Given the description of an element on the screen output the (x, y) to click on. 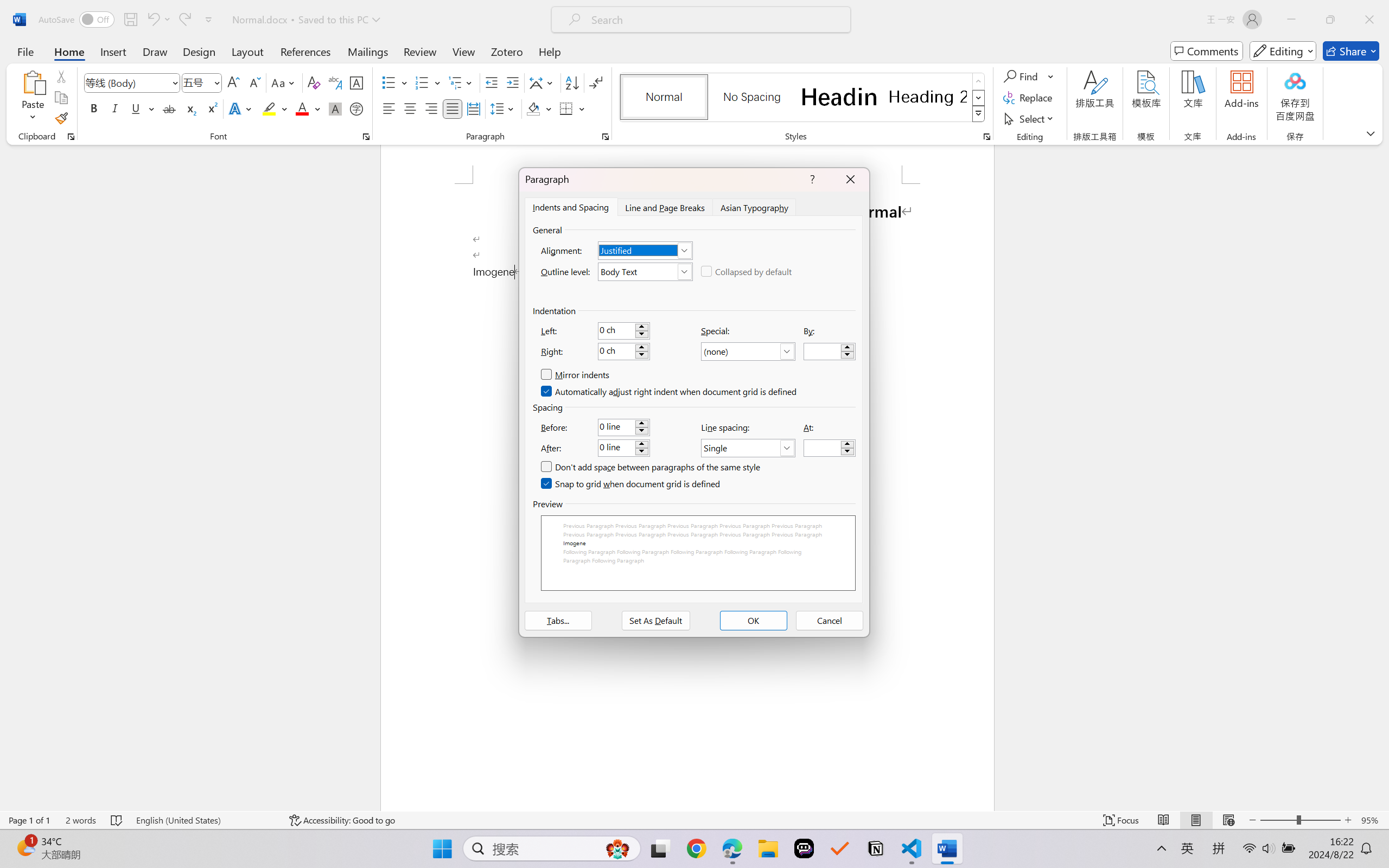
Styles... (986, 136)
Show/Hide Editing Marks (595, 82)
Row Down (978, 97)
Clear Formatting (313, 82)
Before: (623, 426)
Mode (1283, 50)
Change Case (284, 82)
Sort... (571, 82)
